Given the description of an element on the screen output the (x, y) to click on. 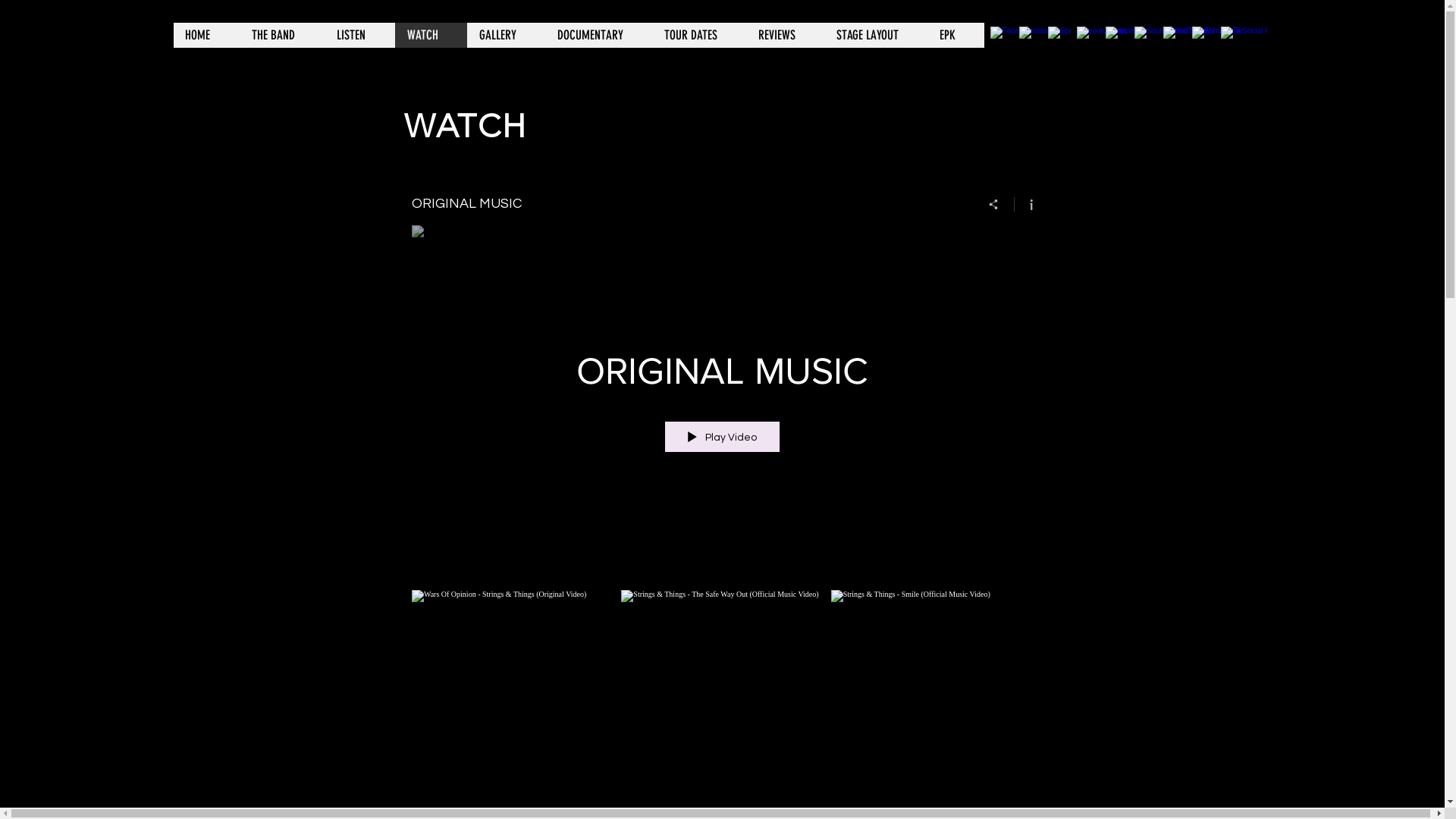
WATCH Element type: text (430, 34)
GALLERY Element type: text (506, 34)
LISTEN Element type: text (359, 34)
Play Video Element type: text (721, 436)
HOME Element type: text (205, 34)
THE BAND Element type: text (281, 34)
EPK Element type: text (954, 34)
DOCUMENTARY Element type: text (597, 34)
STAGE LAYOUT Element type: text (874, 34)
REVIEWS Element type: text (785, 34)
TOUR DATES Element type: text (699, 34)
